Given the description of an element on the screen output the (x, y) to click on. 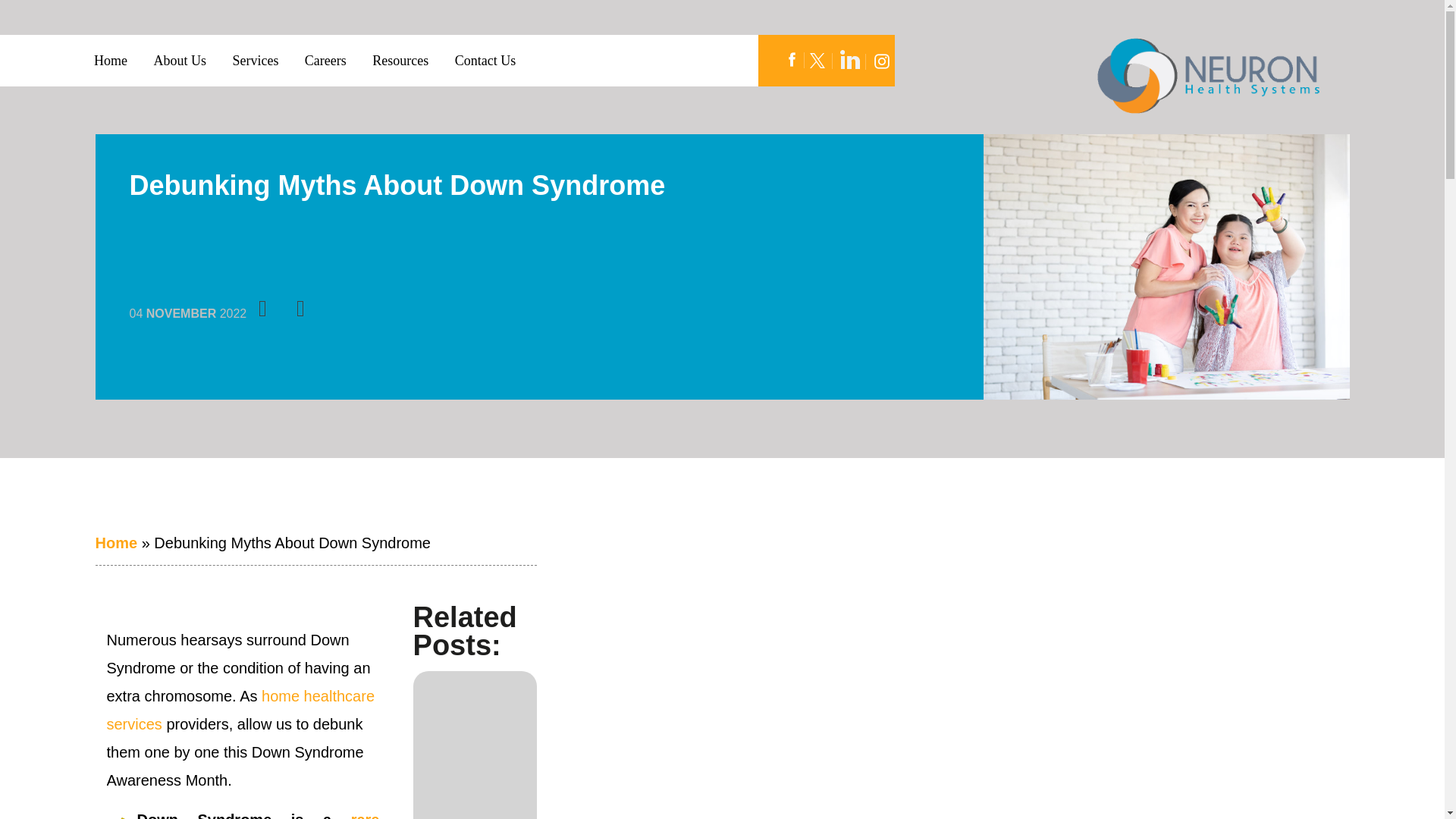
Services (254, 60)
About Us (179, 60)
Resources (400, 60)
